Given the description of an element on the screen output the (x, y) to click on. 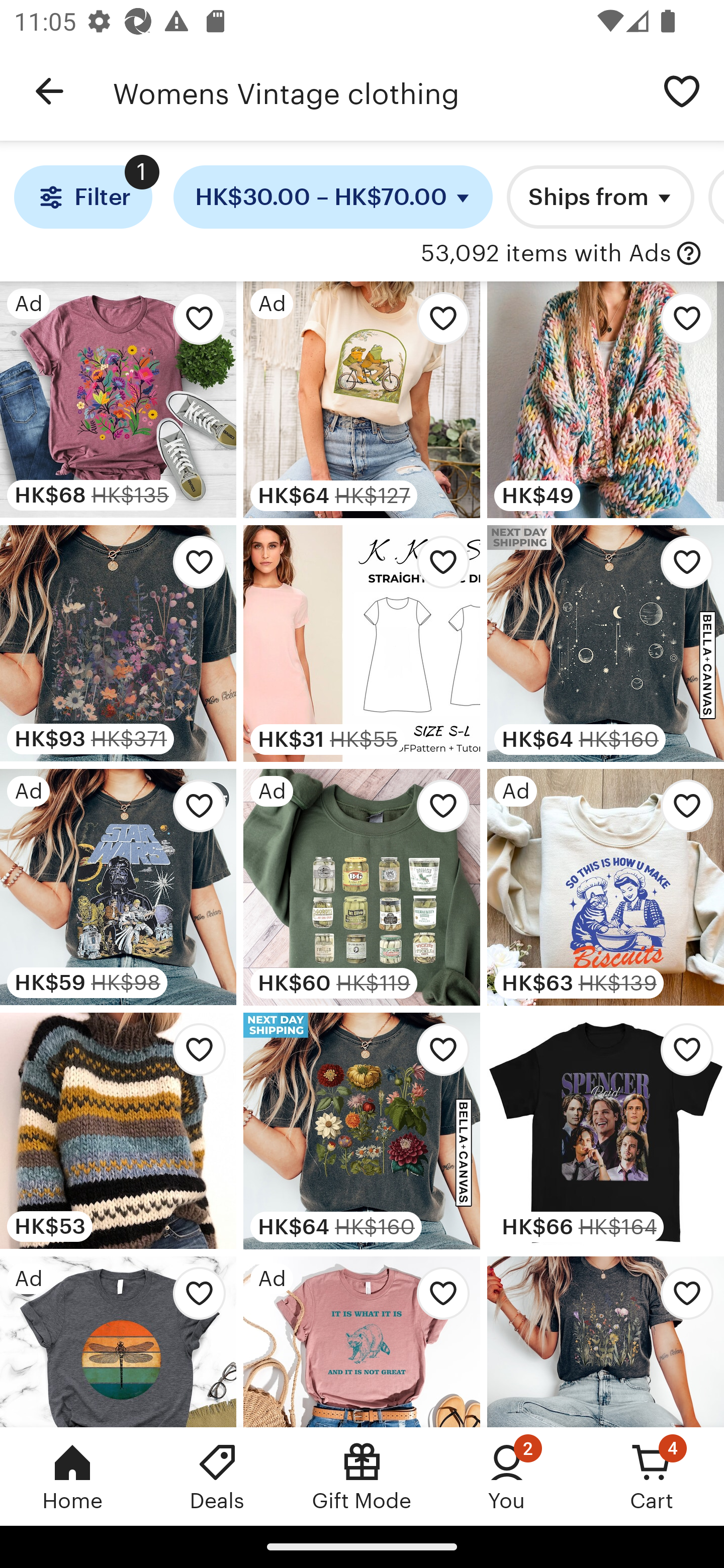
Navigate up (49, 91)
Save search (681, 90)
Womens Vintage clothing (375, 91)
Filter (82, 197)
HK$30.00 – HK$70.00 (333, 197)
Ships from (600, 197)
53,092 items with Ads (545, 253)
with Ads (688, 253)
Deals (216, 1475)
Gift Mode (361, 1475)
You, 2 new notifications You (506, 1475)
Cart, 4 new notifications Cart (651, 1475)
